Given the description of an element on the screen output the (x, y) to click on. 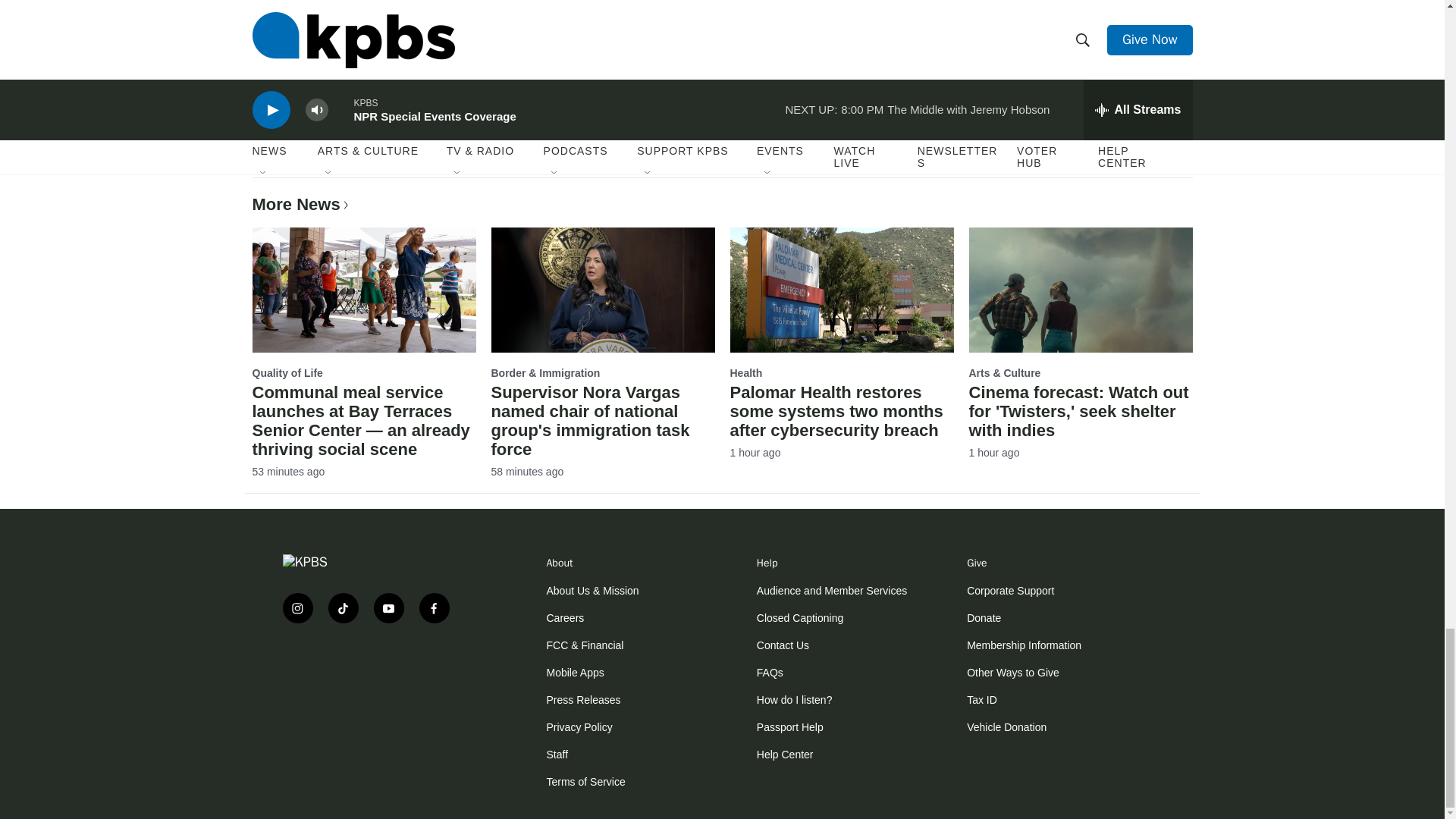
3rd party ad content (373, 683)
